Given the description of an element on the screen output the (x, y) to click on. 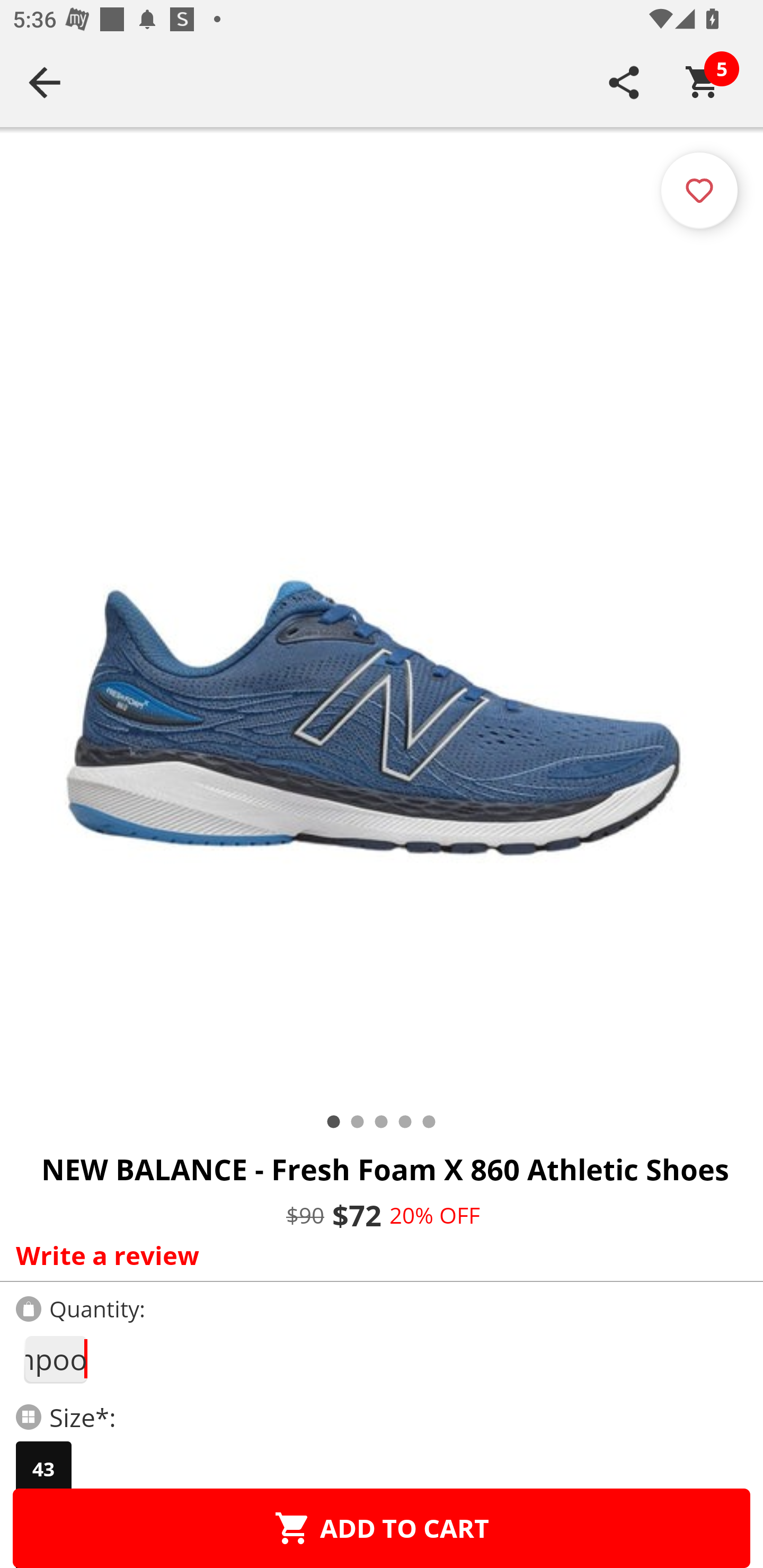
Navigate up (44, 82)
SHARE (623, 82)
Cart (703, 81)
Write a review (377, 1255)
1shampoo (55, 1358)
43 (43, 1468)
ADD TO CART (381, 1528)
